Given the description of an element on the screen output the (x, y) to click on. 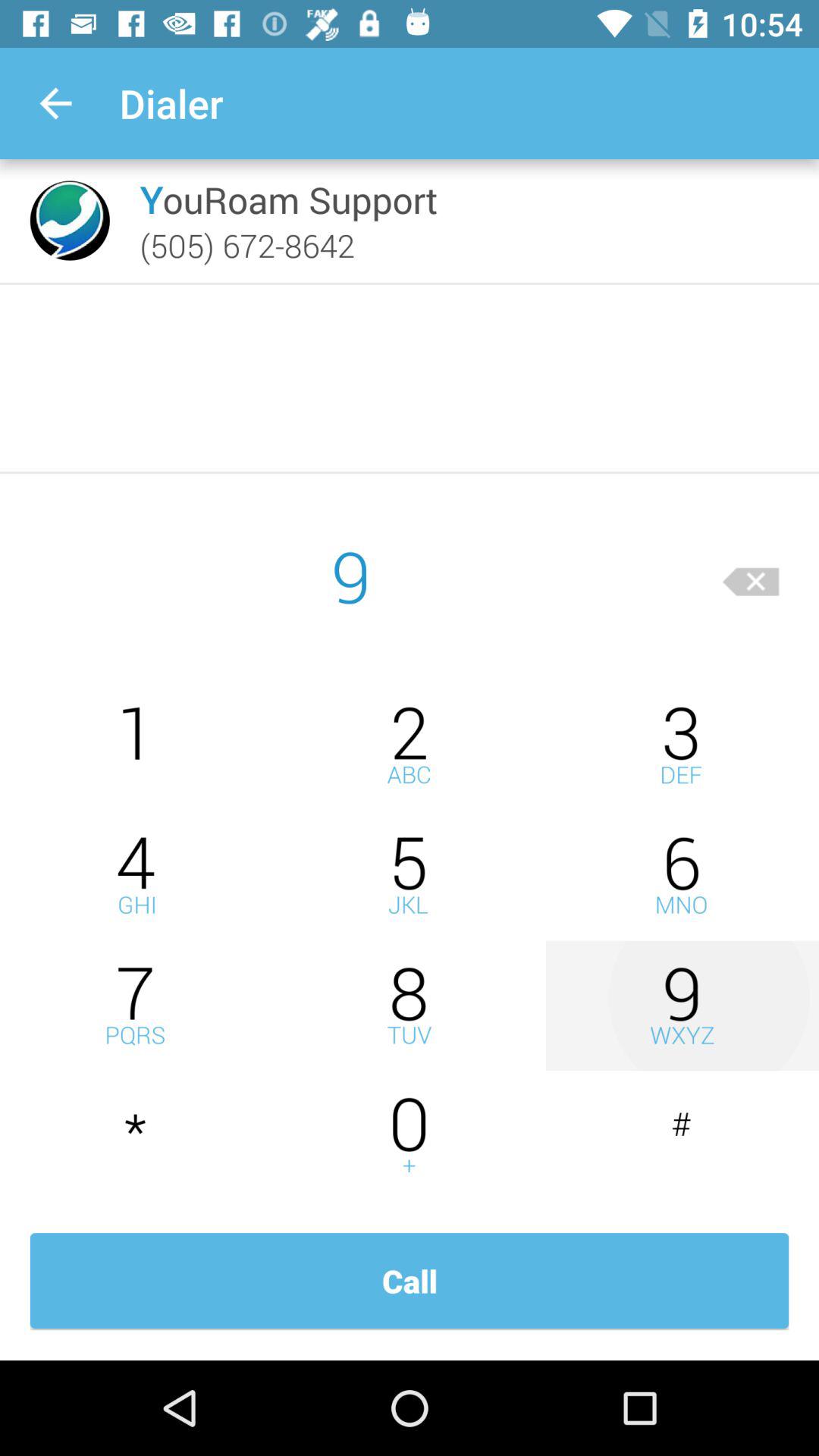
select seven (136, 1005)
